Given the description of an element on the screen output the (x, y) to click on. 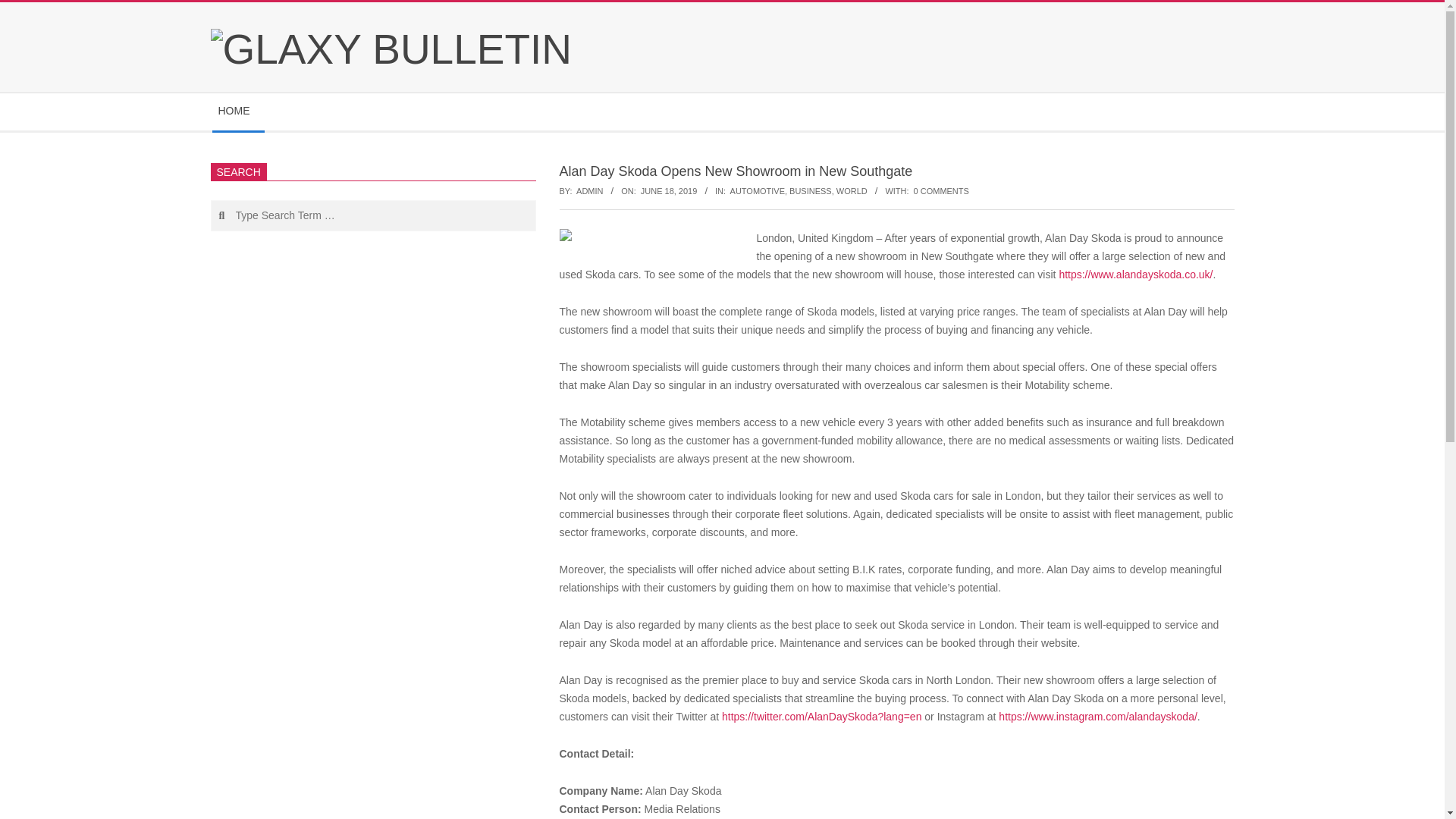
AUTOMOTIVE (757, 190)
WORLD (851, 190)
Posts by admin (589, 190)
0 COMMENTS (941, 190)
HOME (237, 111)
BUSINESS (810, 190)
ADMIN (589, 190)
Tuesday, June 18, 2019, 12:00 am (668, 190)
